Given the description of an element on the screen output the (x, y) to click on. 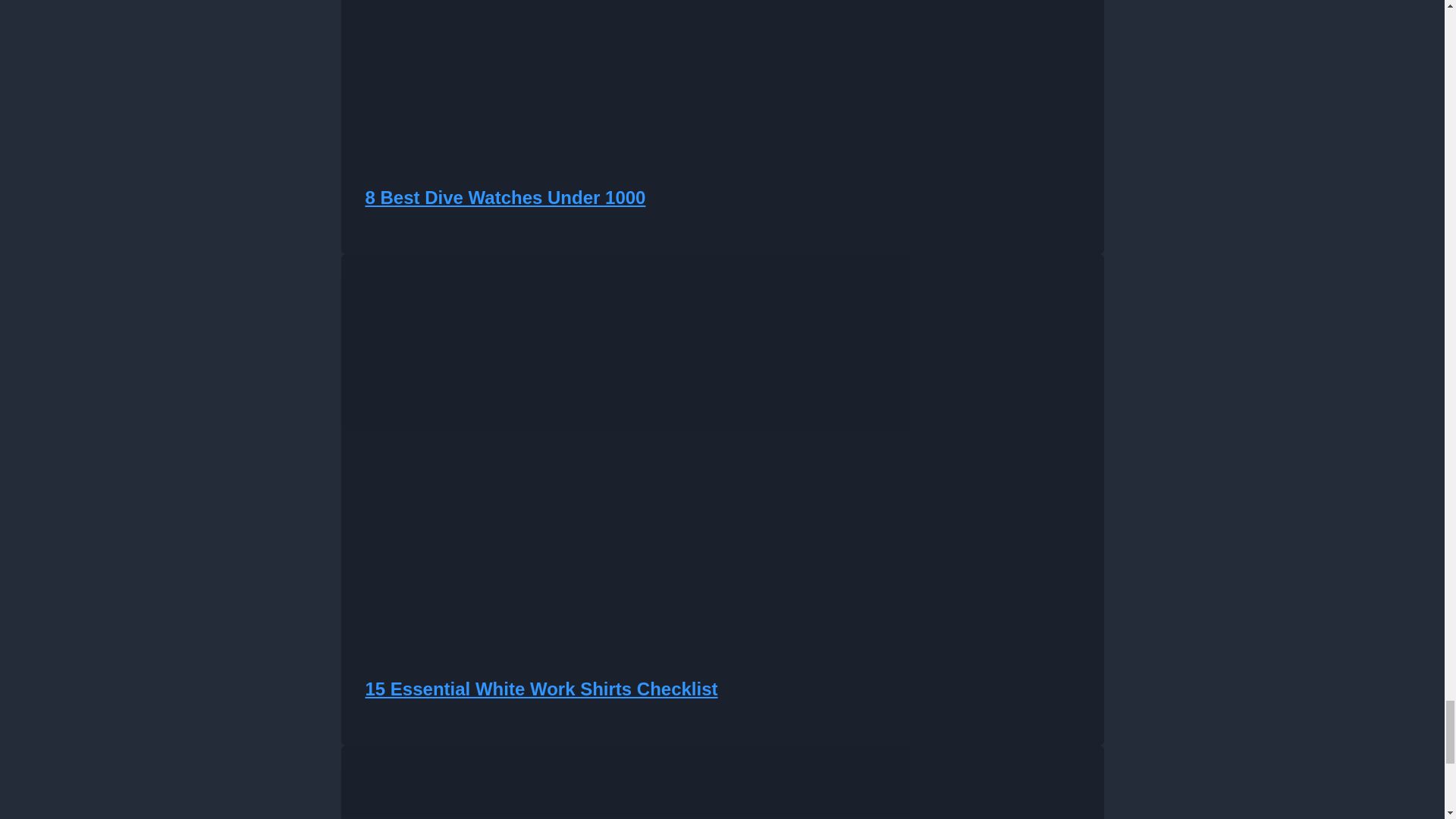
beard vs goatee: Which is Better? 7 (625, 782)
8 best Dive Watches Under 1000 5 (625, 70)
